Given the description of an element on the screen output the (x, y) to click on. 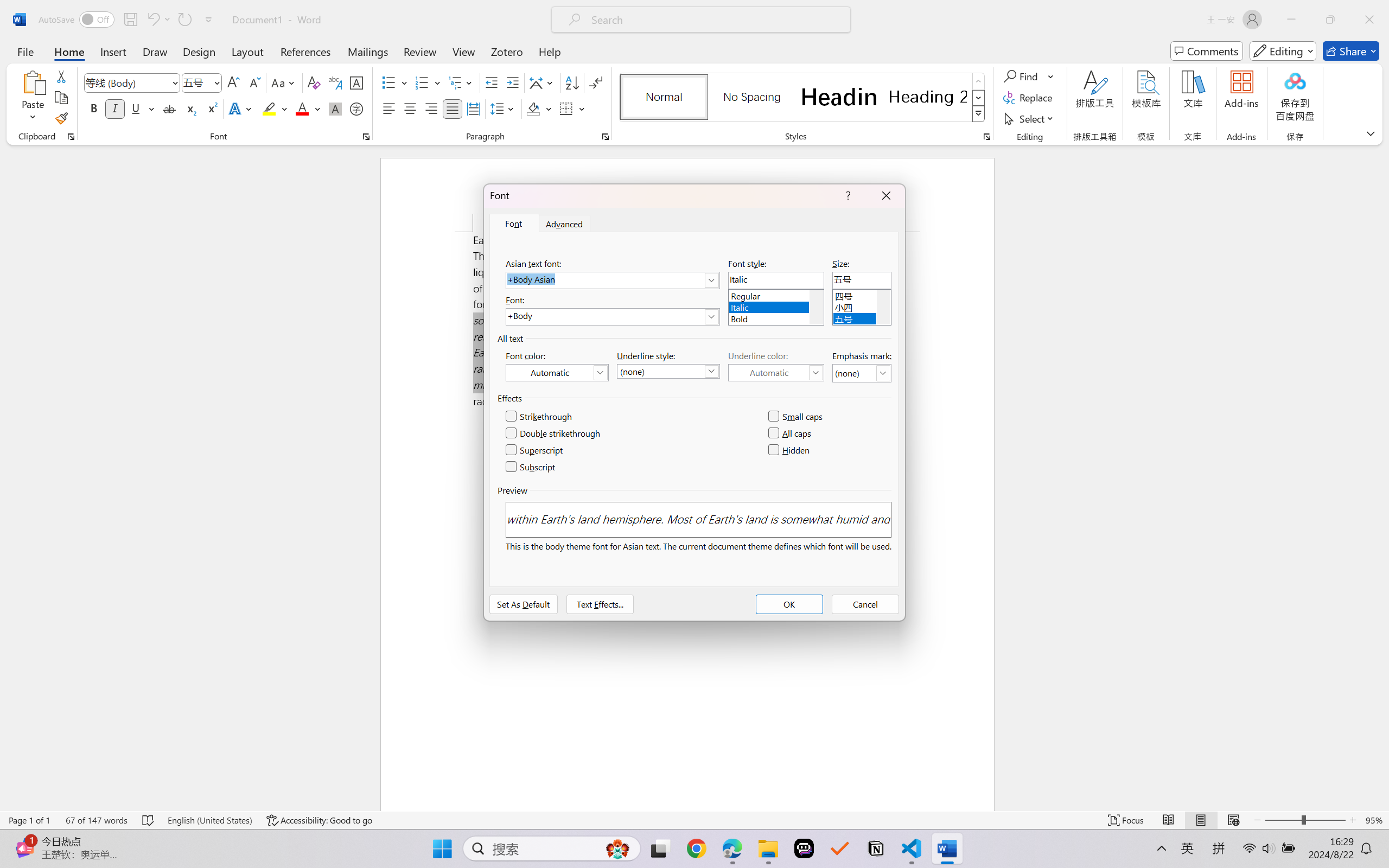
Office Clipboard... (70, 136)
Asian text font: (612, 280)
Text Highlight Color (274, 108)
Font: (612, 316)
Styles (978, 113)
Class: MsoCommandBar (694, 819)
Font Color (Automatic) (556, 372)
Character Shading (334, 108)
